Given the description of an element on the screen output the (x, y) to click on. 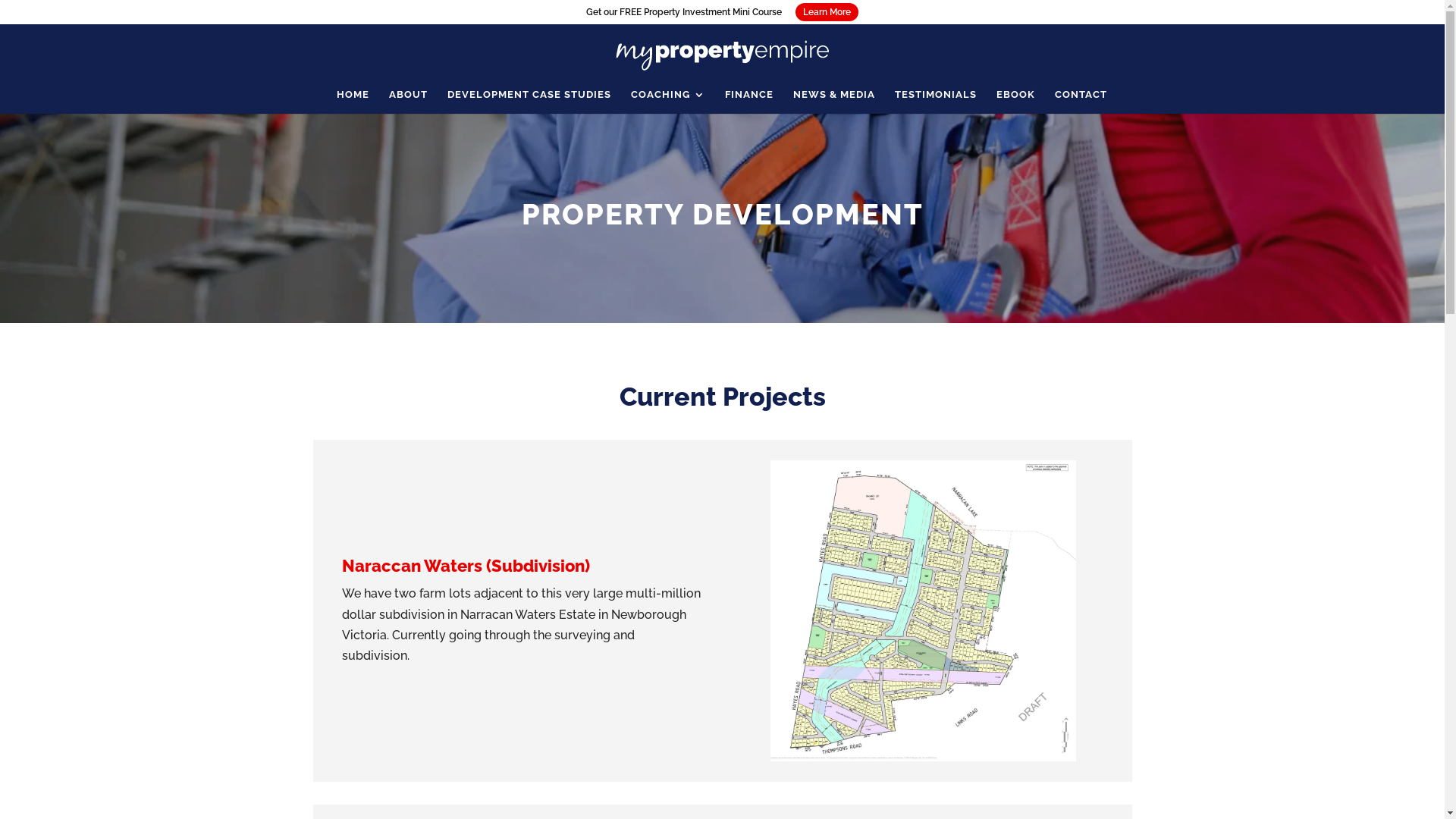
FINANCE Element type: text (748, 101)
CONTACT Element type: text (1080, 101)
Learn More Element type: text (826, 12)
Get our FREE Property Investment Mini Course Element type: text (683, 11)
COACHING Element type: text (667, 101)
HOME Element type: text (352, 101)
ABOUT Element type: text (407, 101)
NEWS & MEDIA Element type: text (834, 101)
DEVELOPMENT CASE STUDIES Element type: text (529, 101)
EBOOK Element type: text (1015, 101)
TESTIMONIALS Element type: text (935, 101)
